Given the description of an element on the screen output the (x, y) to click on. 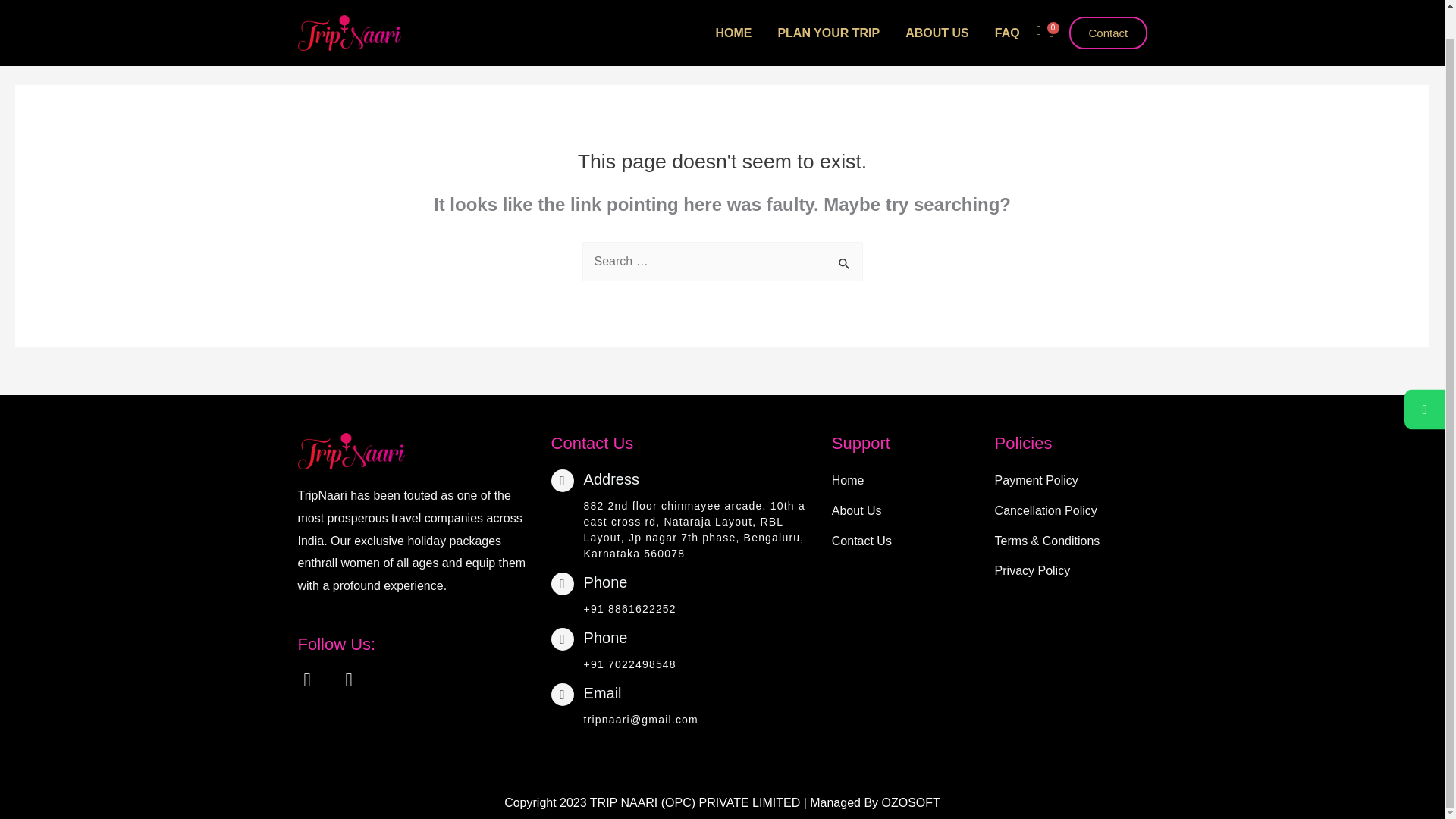
ABOUT US (936, 10)
PLAN YOUR TRIP (828, 10)
HOME (732, 10)
Contact (1108, 9)
FAQ (1006, 10)
